Given the description of an element on the screen output the (x, y) to click on. 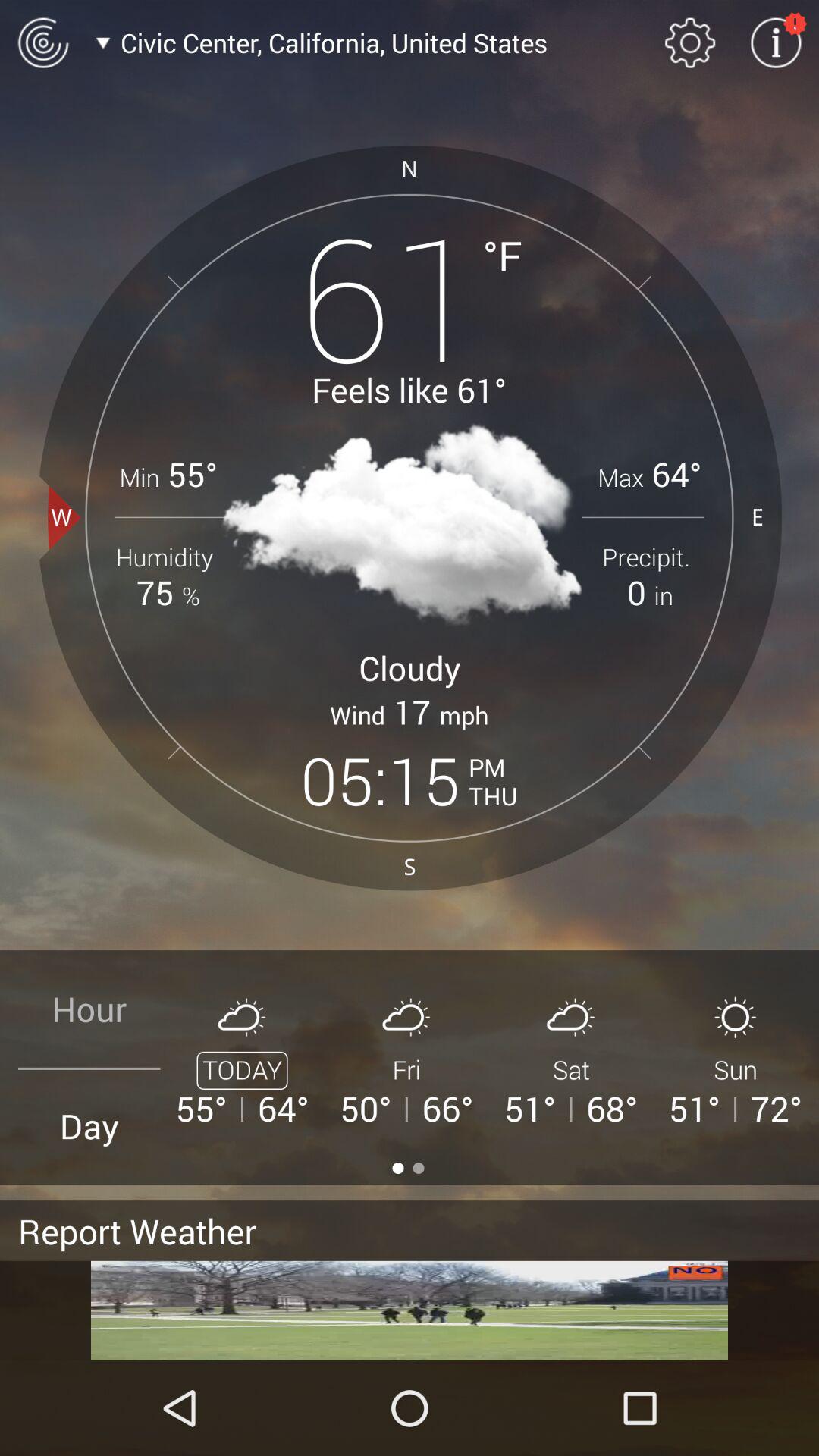
info button (776, 42)
